Given the description of an element on the screen output the (x, y) to click on. 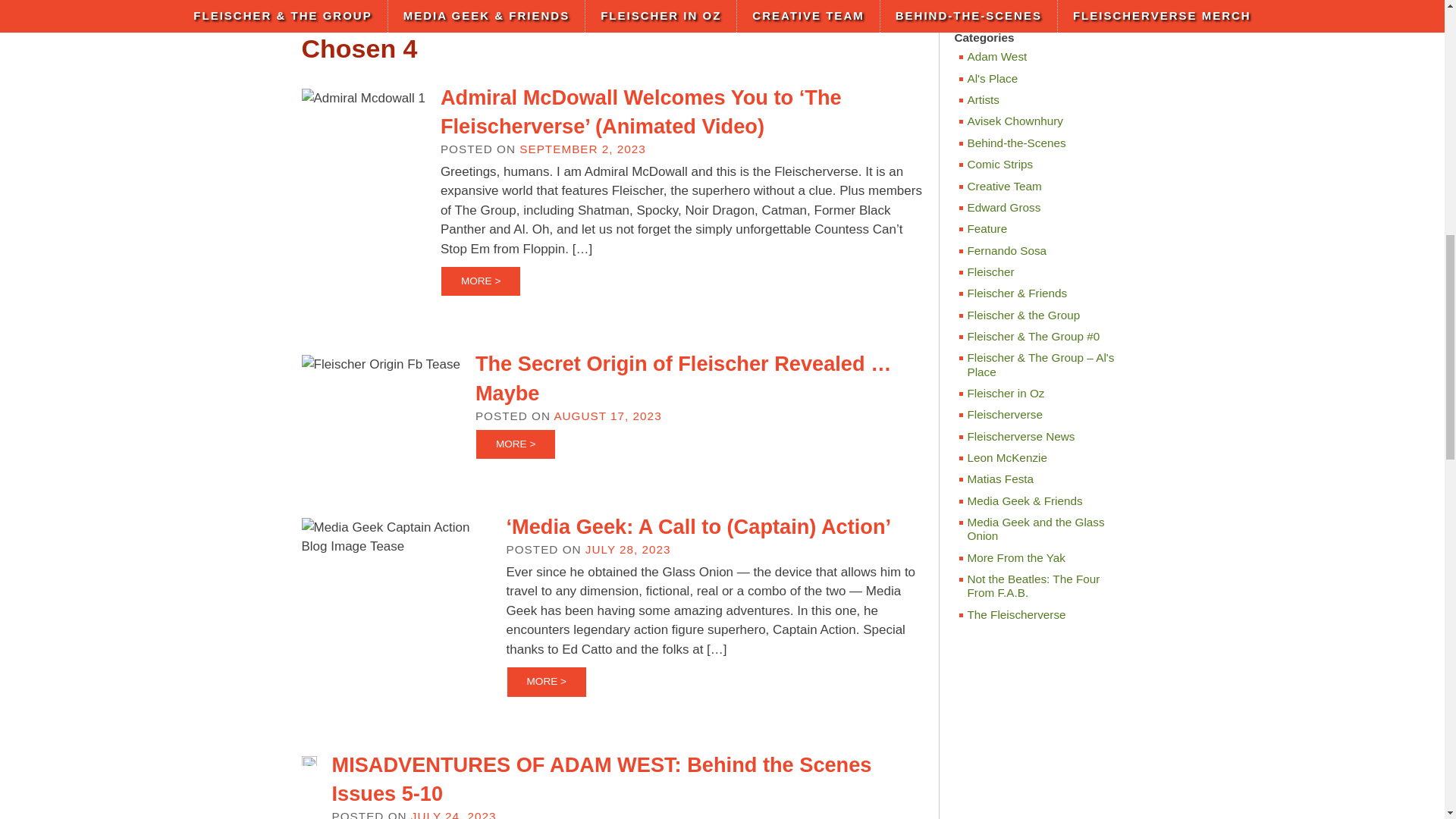
JULY 24, 2023 (453, 814)
AUGUST 17, 2023 (607, 415)
SEPTEMBER 2, 2023 (582, 148)
MISADVENTURES OF ADAM WEST: Behind the Scenes Issues 5-10 (601, 778)
JULY 28, 2023 (628, 549)
